Given the description of an element on the screen output the (x, y) to click on. 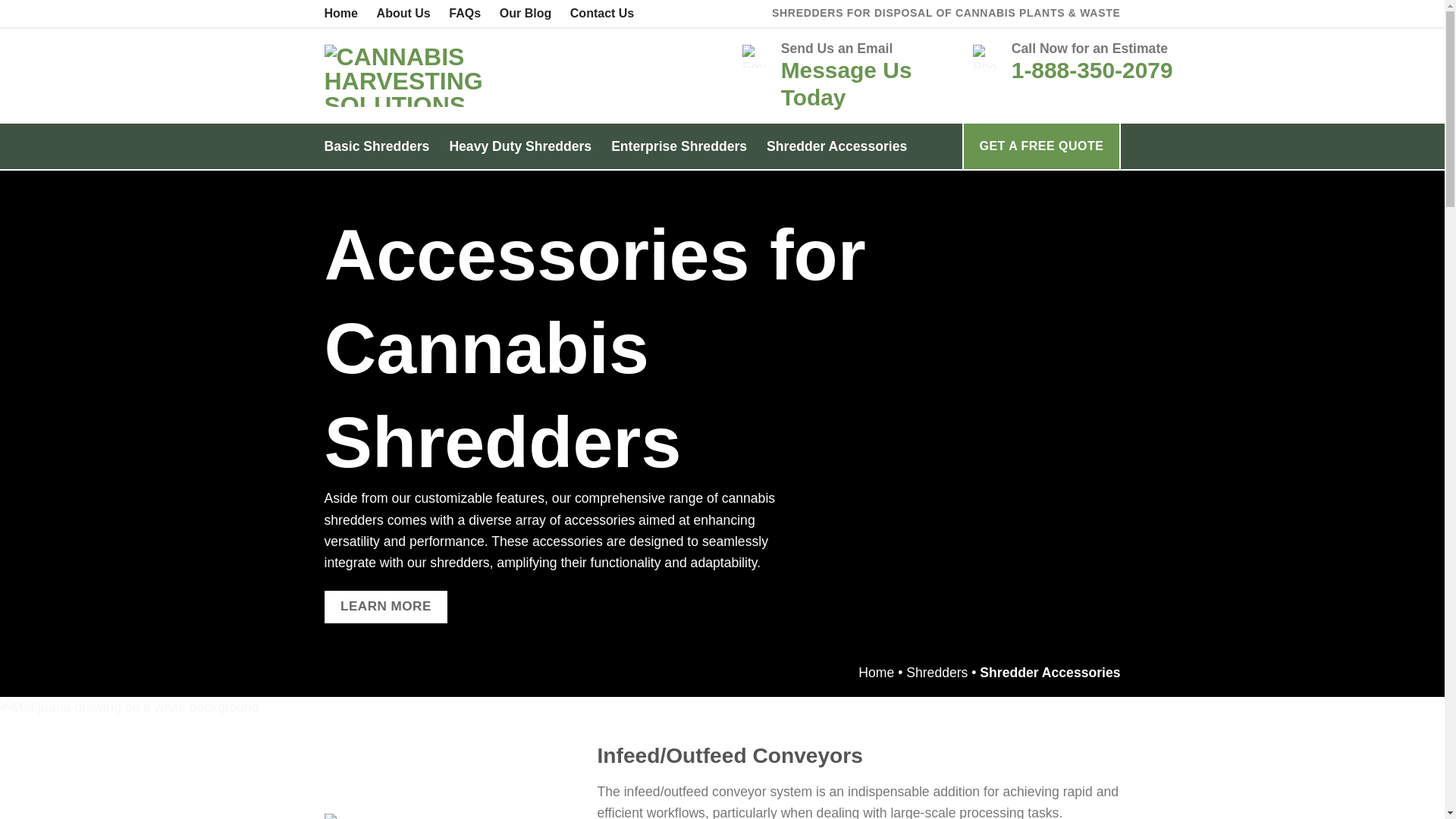
GET A FREE QUOTE (1040, 145)
Contact Us (601, 13)
Enterprise Shredders (678, 145)
LEARN MORE (386, 606)
Shredders (936, 672)
cannabis shredders (550, 508)
Our Blog (525, 13)
Shredder Accessories (837, 145)
Basic Shredders (376, 145)
